Given the description of an element on the screen output the (x, y) to click on. 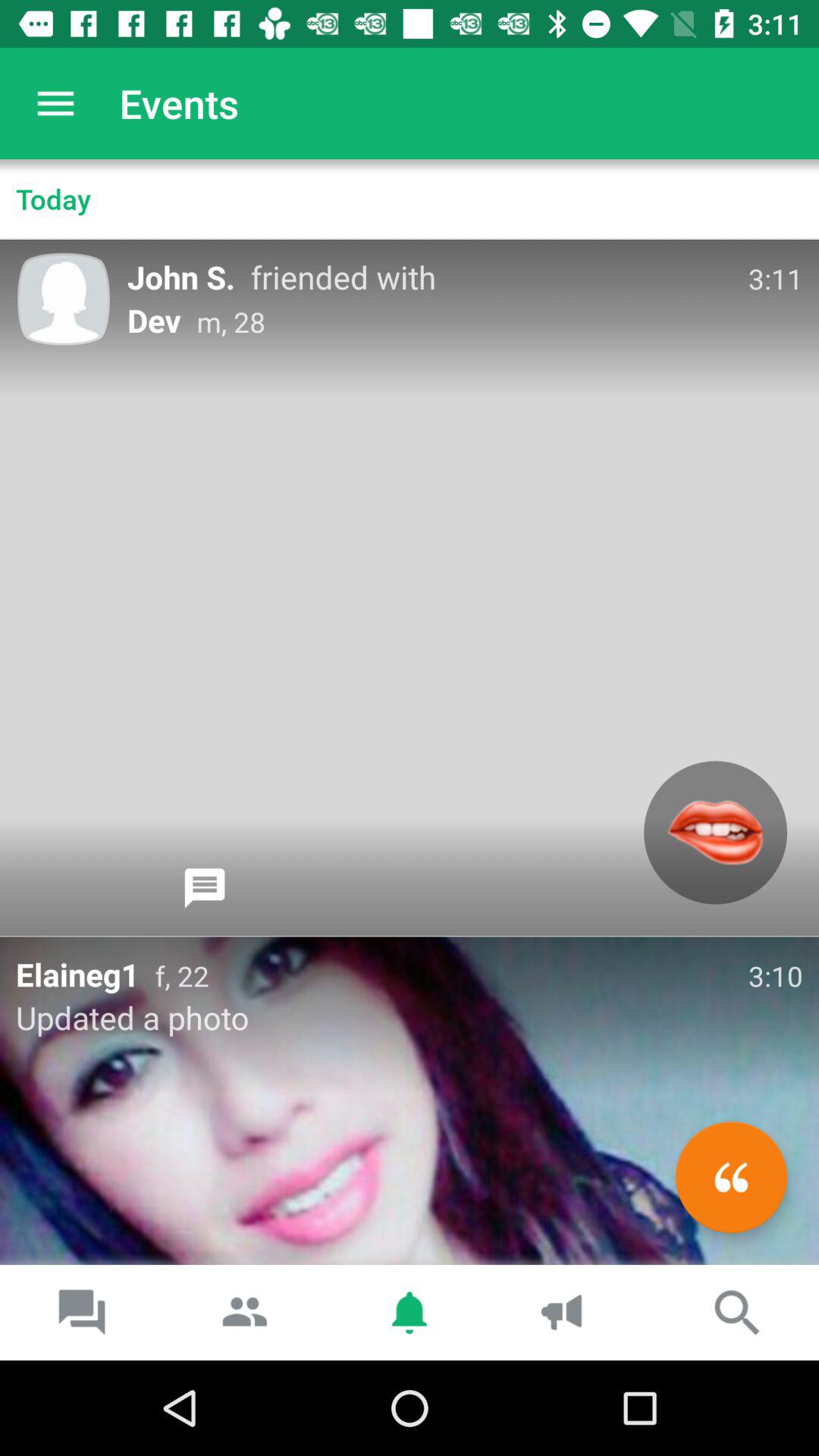
open chat (204, 888)
